Given the description of an element on the screen output the (x, y) to click on. 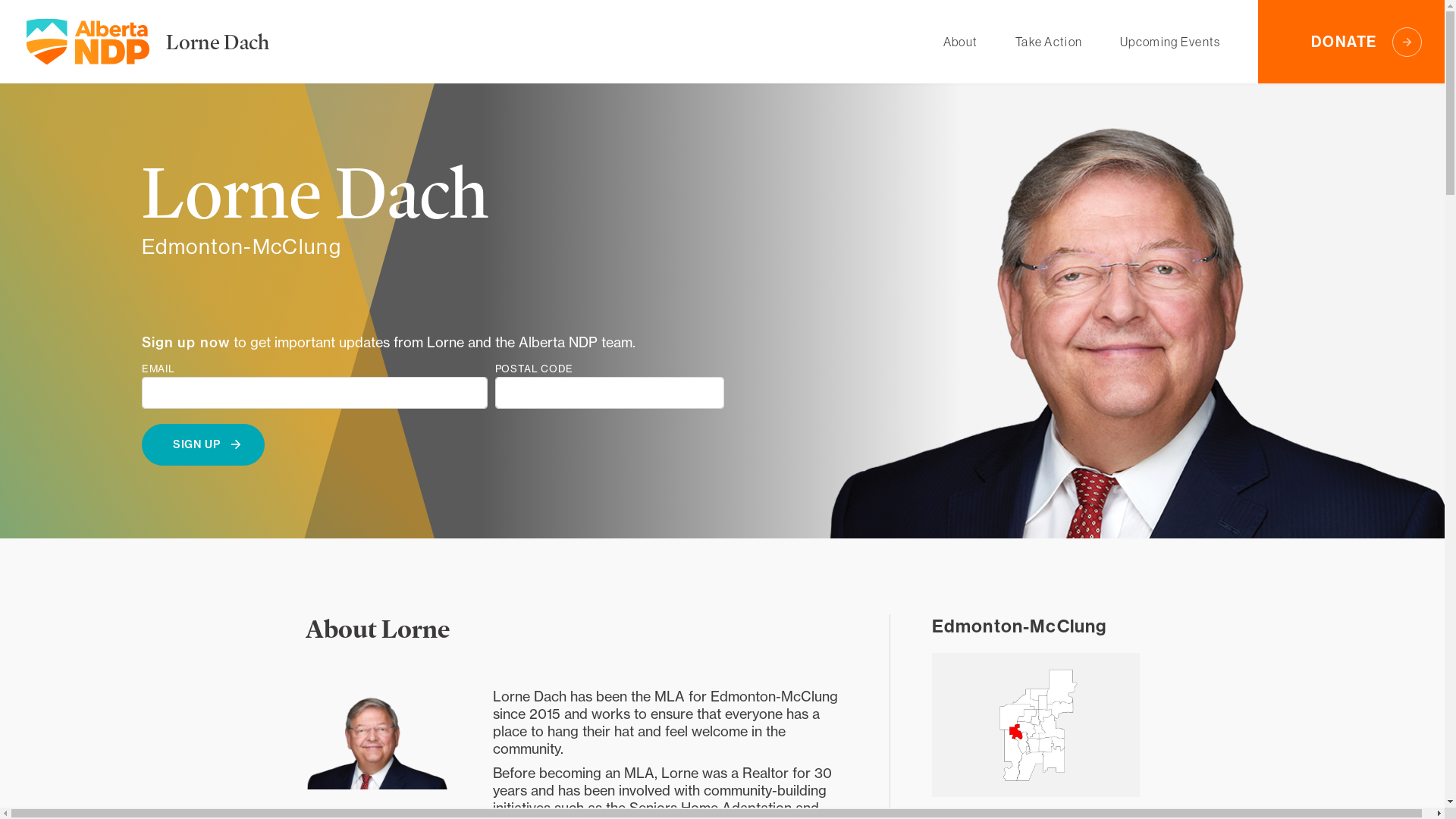
SIGN UP Element type: text (202, 444)
Lorne Dach Element type: text (217, 41)
Take Action Element type: text (1048, 41)
DONATE Element type: text (1351, 41)
Upcoming Events Element type: text (1170, 41)
About Element type: text (960, 41)
